Given the description of an element on the screen output the (x, y) to click on. 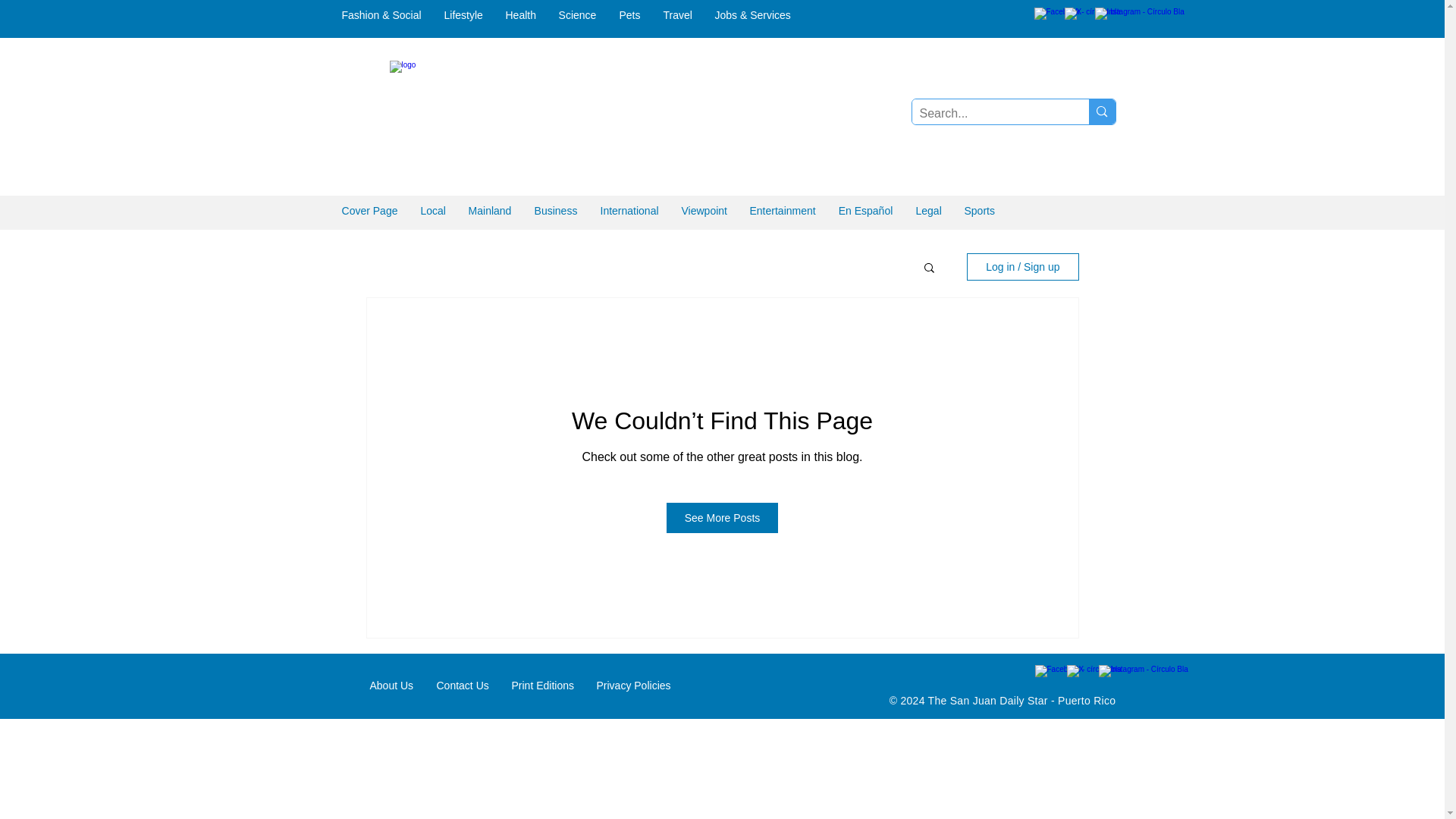
Entertainment (782, 210)
Legal (928, 210)
Local (433, 210)
International (628, 210)
See More Posts (722, 517)
Cover Page (369, 210)
Sports (979, 210)
Contact Us (462, 685)
About Us (391, 685)
Science (577, 15)
